Given the description of an element on the screen output the (x, y) to click on. 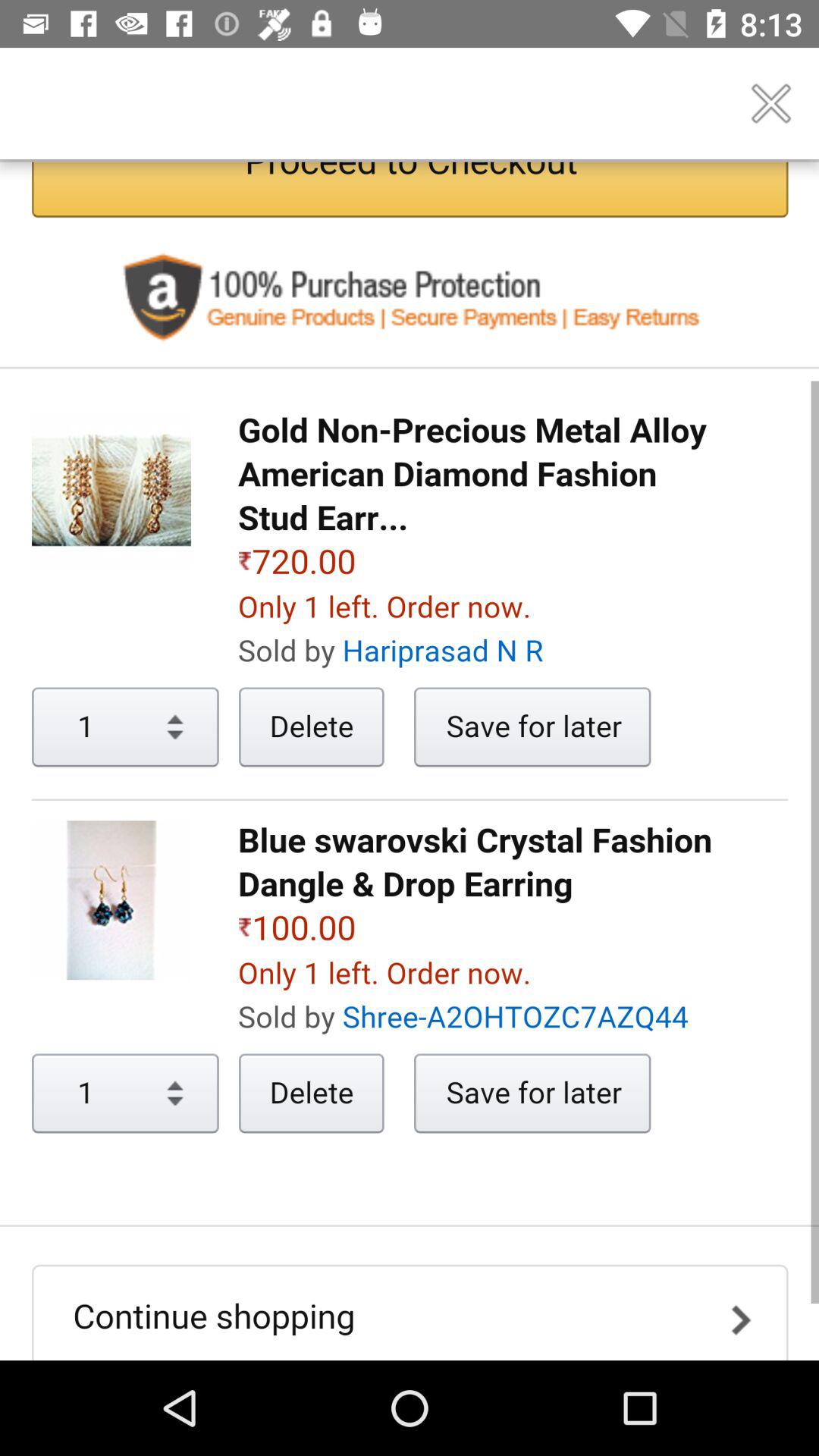
show the products (409, 761)
